Given the description of an element on the screen output the (x, y) to click on. 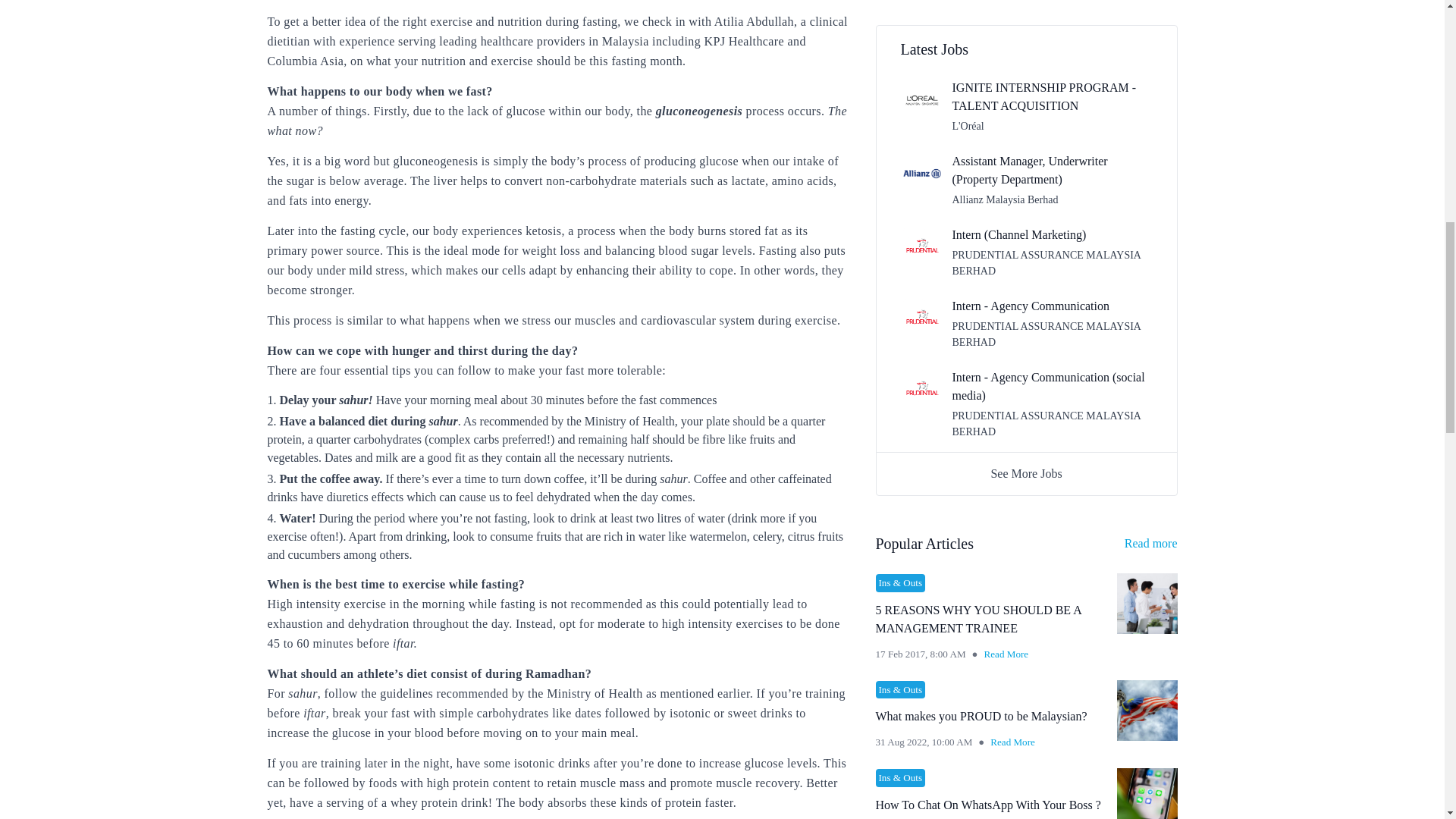
Read more (1150, 543)
See More Jobs (1026, 473)
See More Jobs (1026, 472)
